Given the description of an element on the screen output the (x, y) to click on. 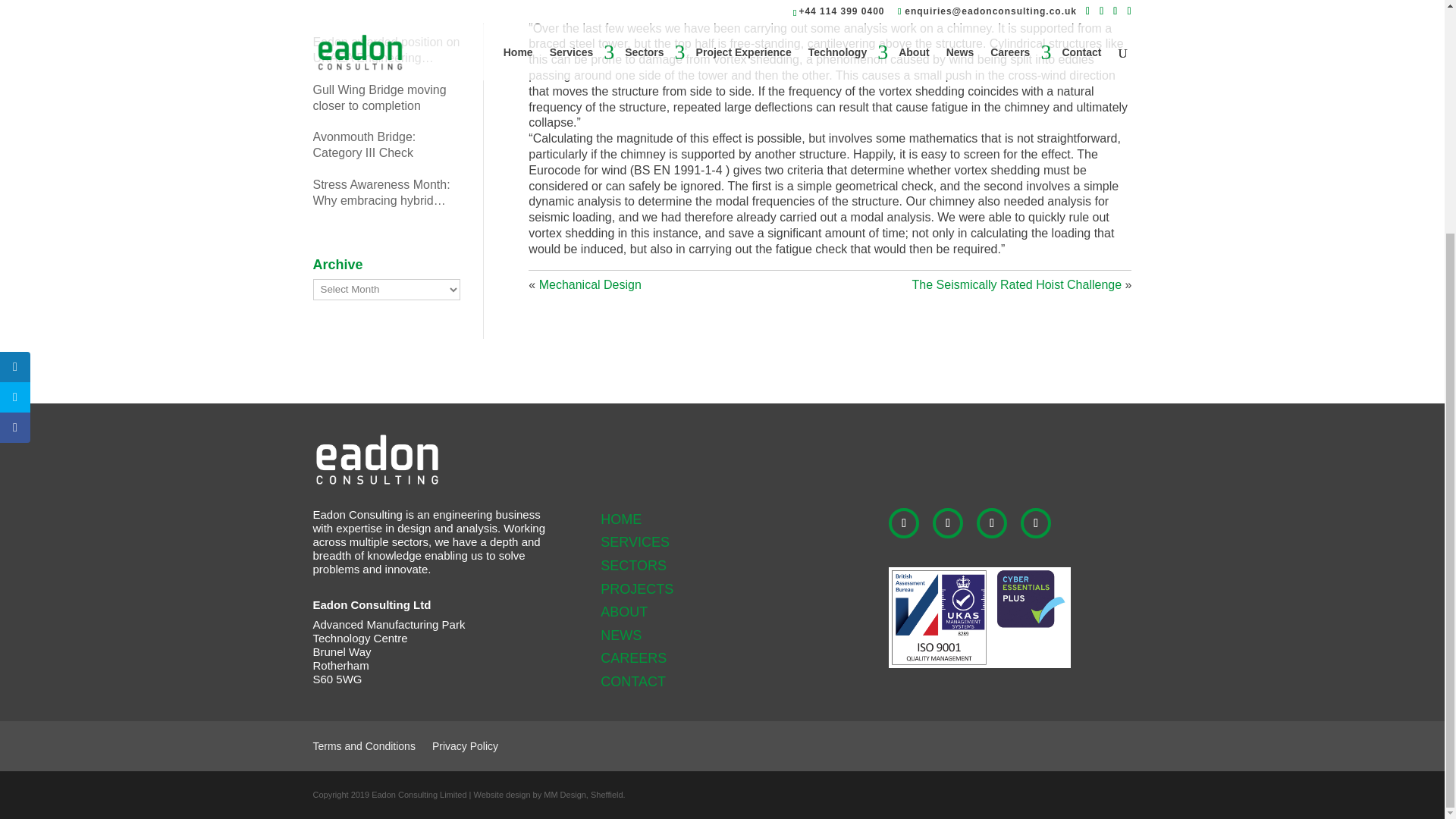
Follow on LinkedIn (903, 522)
Follow on Facebook (947, 522)
Follow on Instagram (1035, 522)
Follow on Twitter (991, 522)
